Given the description of an element on the screen output the (x, y) to click on. 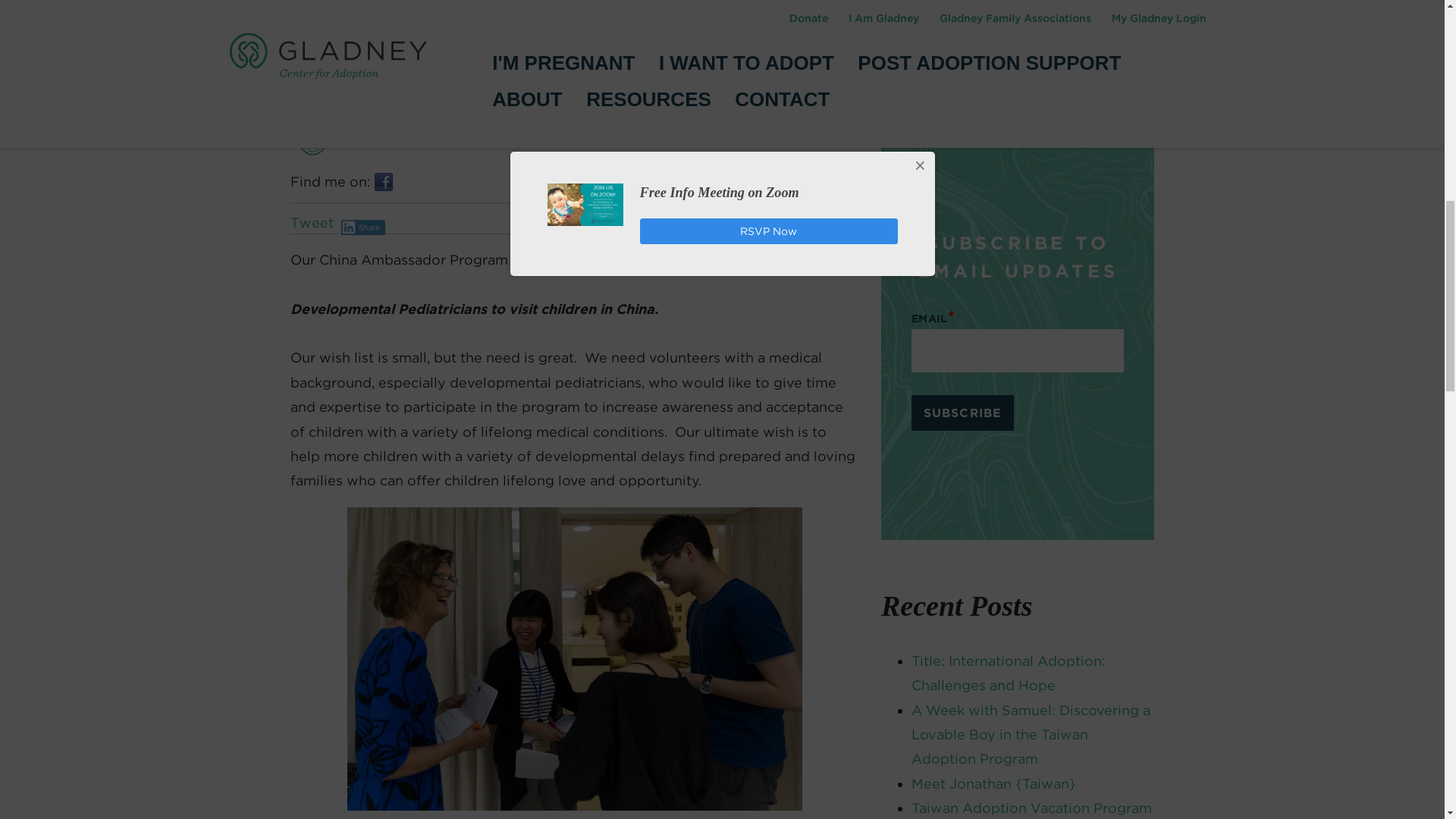
Tweet (311, 222)
Superkids Team (416, 96)
International Adoption (975, 86)
Subscribe (962, 412)
Share (362, 227)
Title: International Adoption: Challenges and Hope (1008, 672)
Facebook (383, 181)
Domestic Infant Adoption (987, 25)
Subscribe (962, 412)
Taiwan Adoption Vacation Program (1031, 807)
